Given the description of an element on the screen output the (x, y) to click on. 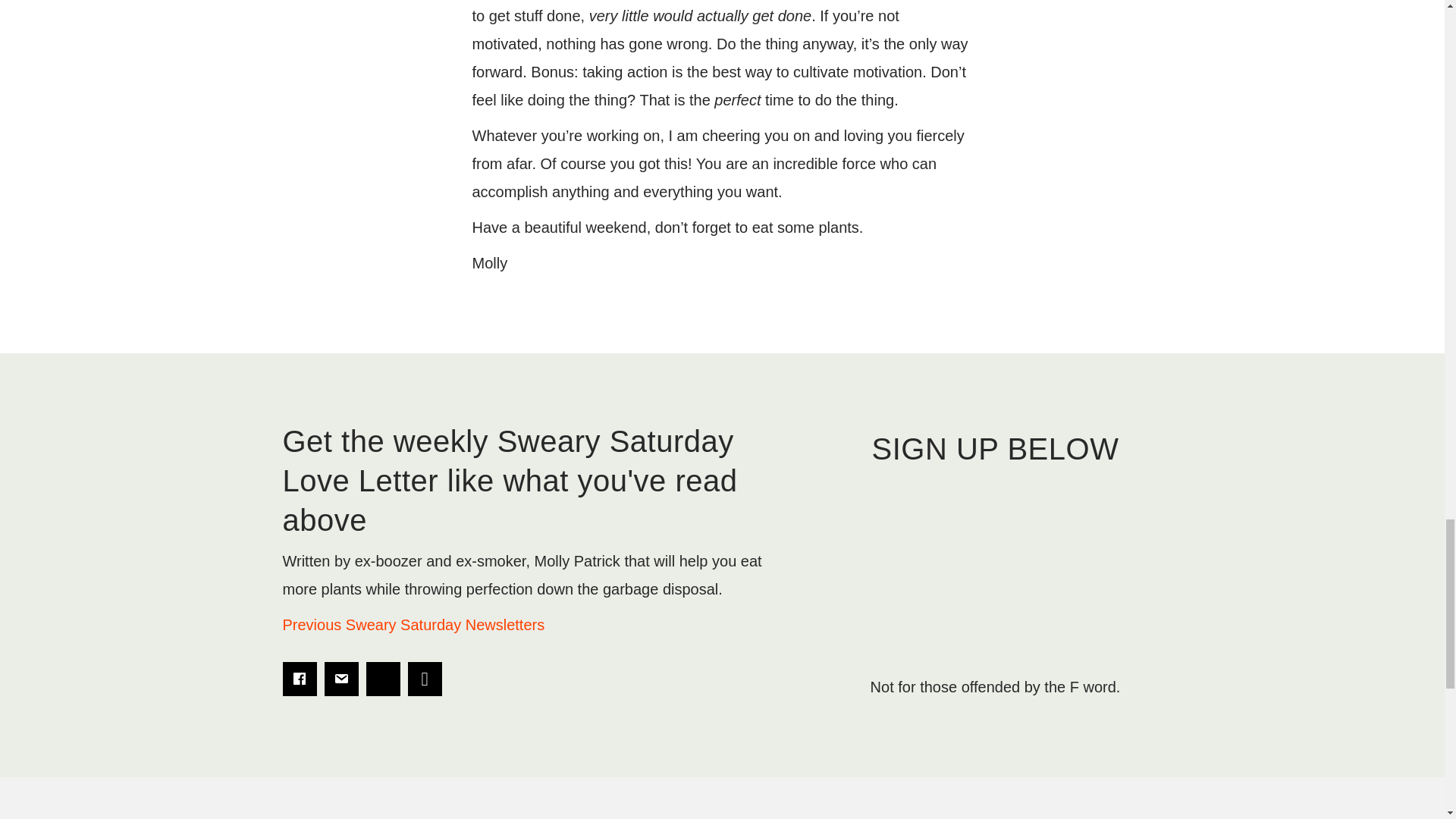
Previous Sweary Saturday Newsletters (413, 624)
